Given the description of an element on the screen output the (x, y) to click on. 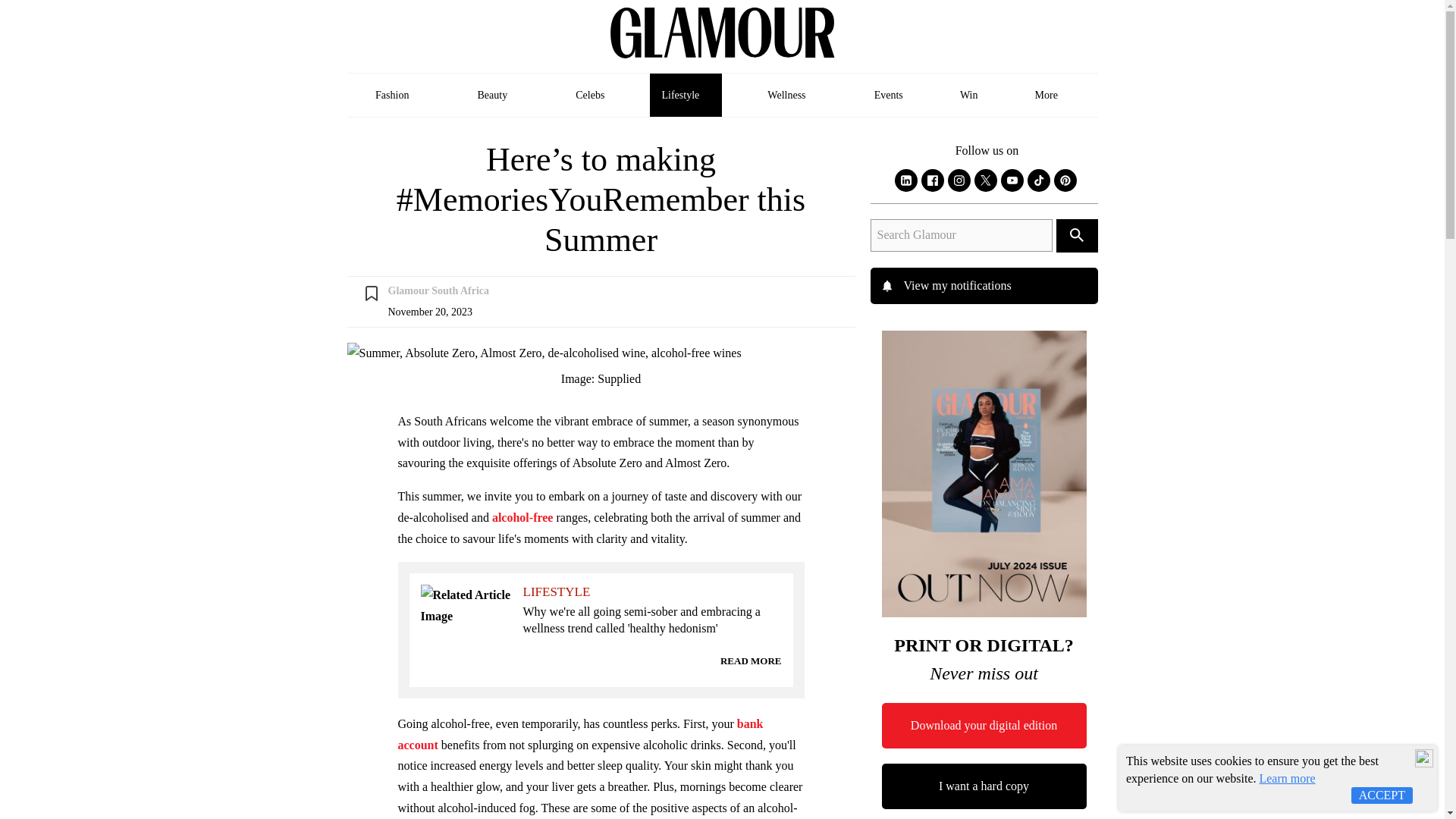
Wellness (791, 95)
Win (969, 95)
alcohol-free (524, 517)
Beauty (497, 95)
Lifestyle (685, 95)
Follow Glamour on LinkedIn (906, 179)
Events (888, 95)
Fashion (397, 95)
Follow Glamour on TikTok (1038, 179)
Celebs (589, 95)
